Given the description of an element on the screen output the (x, y) to click on. 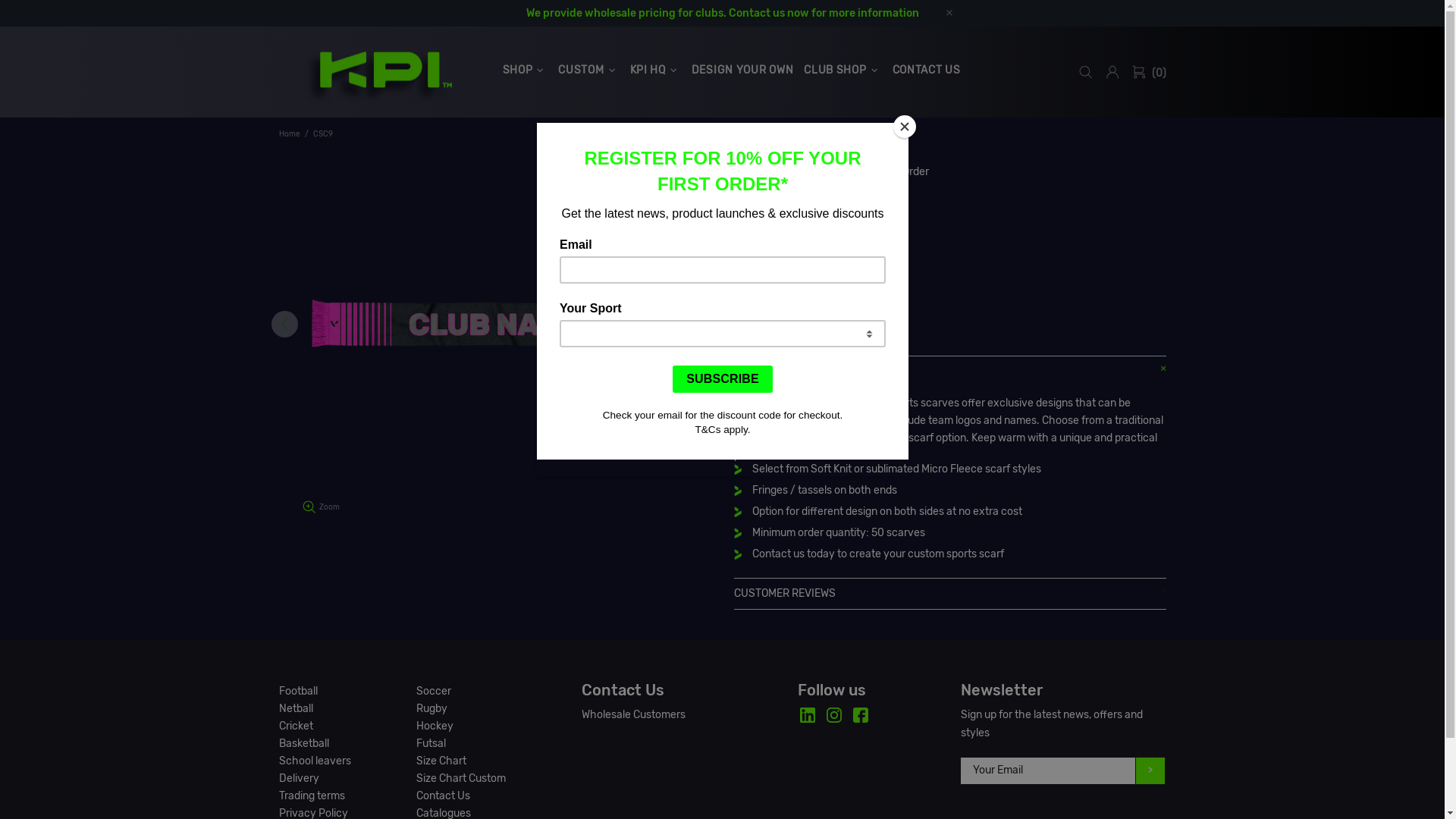
(0) Element type: text (1148, 71)
CONTACT US Element type: text (926, 70)
Contact Us Element type: text (622, 690)
Trading terms Element type: text (312, 795)
REQUEST A QUOTE Element type: text (820, 311)
Delivery Element type: text (299, 778)
SIZE GUIDE Element type: text (760, 272)
Wholesale Customers Element type: text (633, 715)
Size Chart Element type: text (441, 760)
Futsal Element type: text (430, 743)
> Element type: text (1150, 770)
Cricket Element type: text (296, 725)
Home Element type: text (288, 133)
Rugby Element type: text (431, 708)
KPI HQ Element type: text (655, 70)
SHOP Element type: text (525, 70)
CLUB SHOP Element type: text (842, 70)
Contact Us Element type: text (443, 795)
Netball Element type: text (296, 708)
Hockey Element type: text (434, 725)
Basketball Element type: text (304, 743)
School leavers Element type: text (315, 760)
DESIGN YOUR OWN Element type: text (742, 70)
Soccer Element type: text (433, 690)
Contact us Element type: text (756, 13)
KPI Sports Element type: text (381, 71)
CUSTOM Element type: text (588, 70)
Size Chart Custom Element type: text (460, 778)
Football Element type: text (298, 690)
FAQ Element type: text (811, 272)
